Given the description of an element on the screen output the (x, y) to click on. 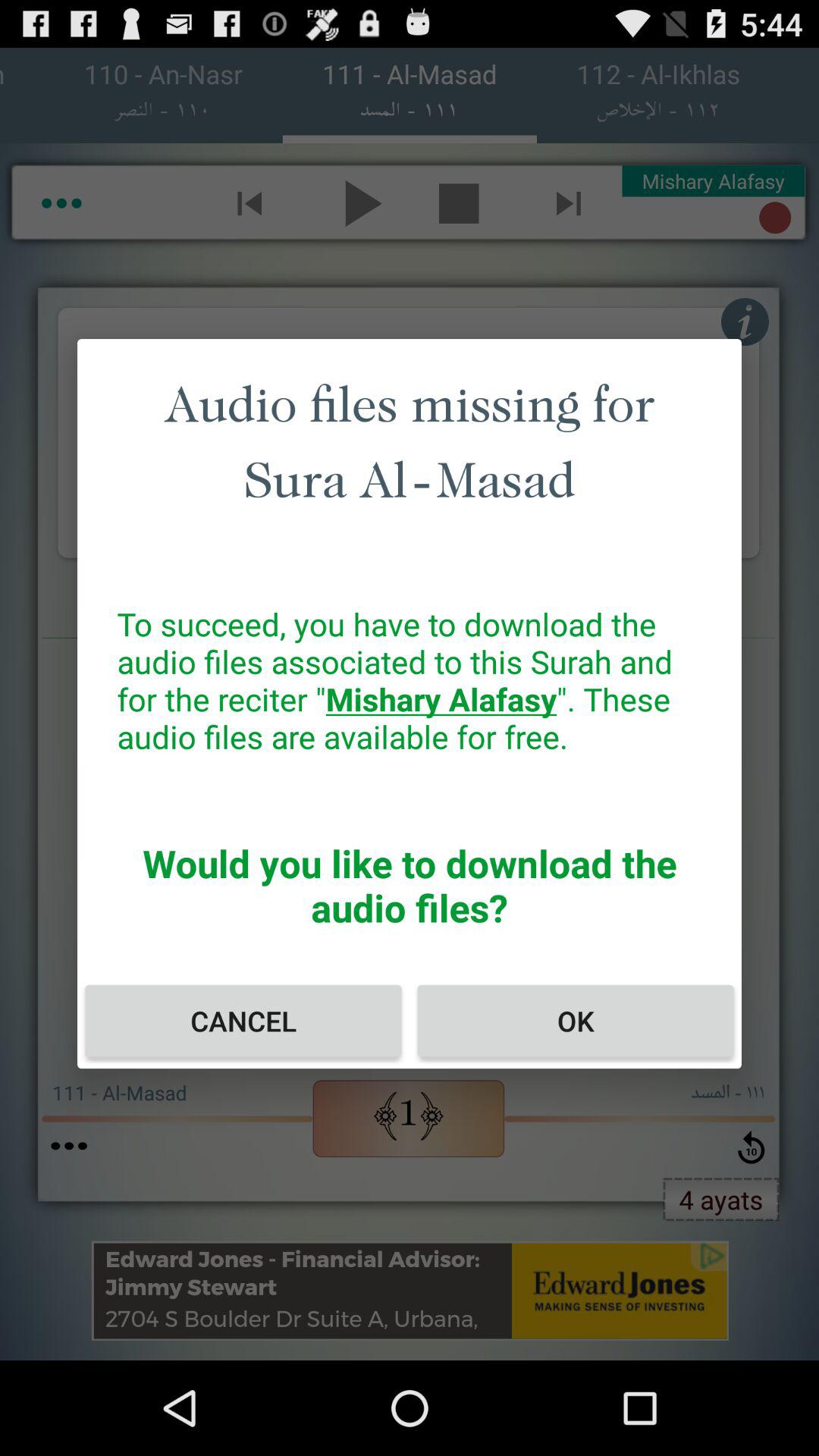
flip until ok item (575, 1020)
